Given the description of an element on the screen output the (x, y) to click on. 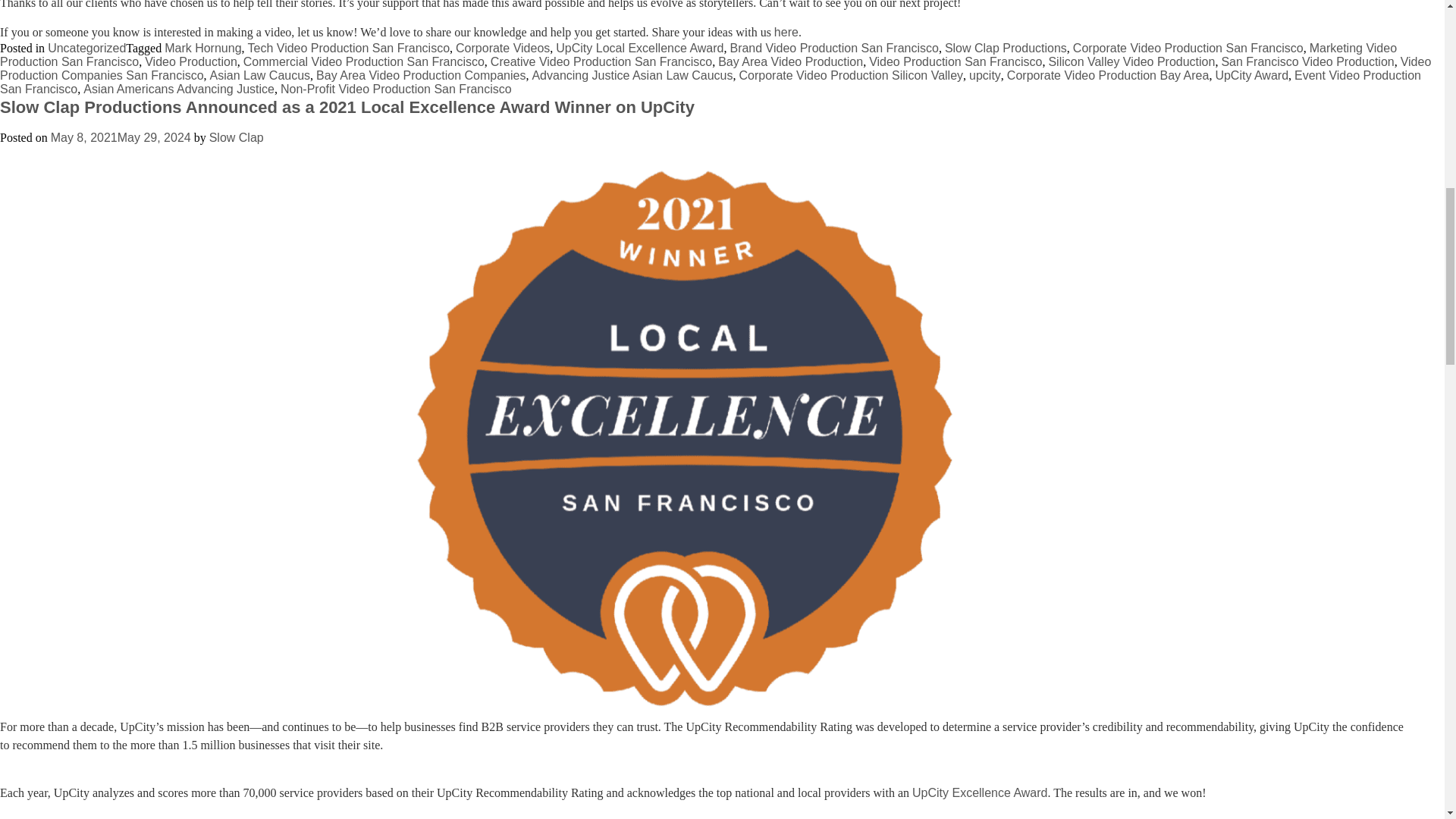
Video Production Companies San Francisco (715, 68)
Asian Law Caucus (260, 74)
Marketing Video Production San Francisco (698, 54)
Mark Hornung (202, 47)
Silicon Valley Video Production (1131, 61)
Video Production San Francisco (955, 61)
Corporate Videos (502, 47)
Uncategorized (86, 47)
San Francisco Video Production (1307, 61)
Brand Video Production San Francisco (833, 47)
